Given the description of an element on the screen output the (x, y) to click on. 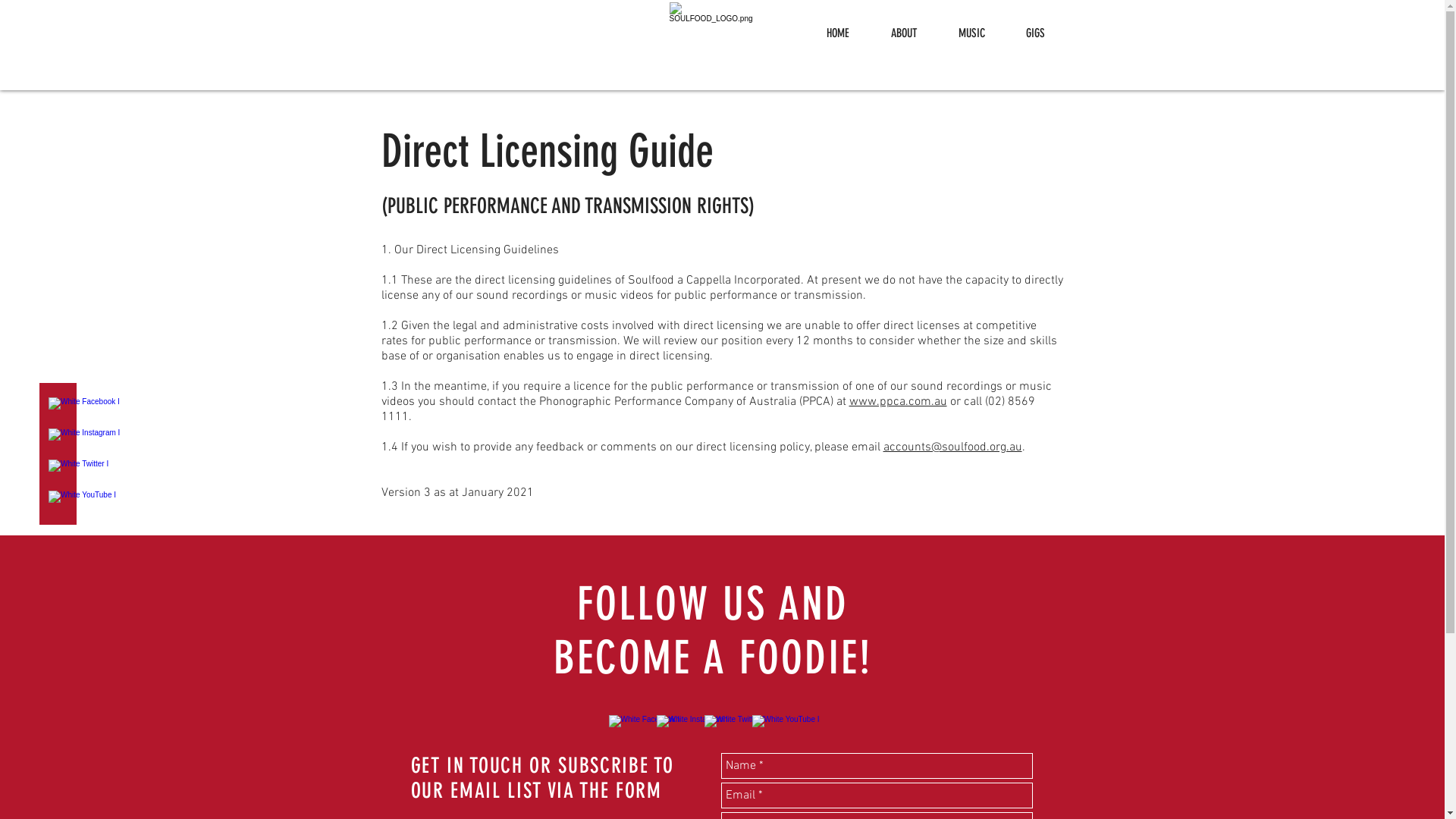
HOME Element type: text (837, 33)
www.ppca.com.au Element type: text (898, 401)
accounts@soulfood.org.au Element type: text (951, 447)
MUSIC Element type: text (970, 33)
ABOUT Element type: text (904, 33)
GIGS Element type: text (1035, 33)
